Given the description of an element on the screen output the (x, y) to click on. 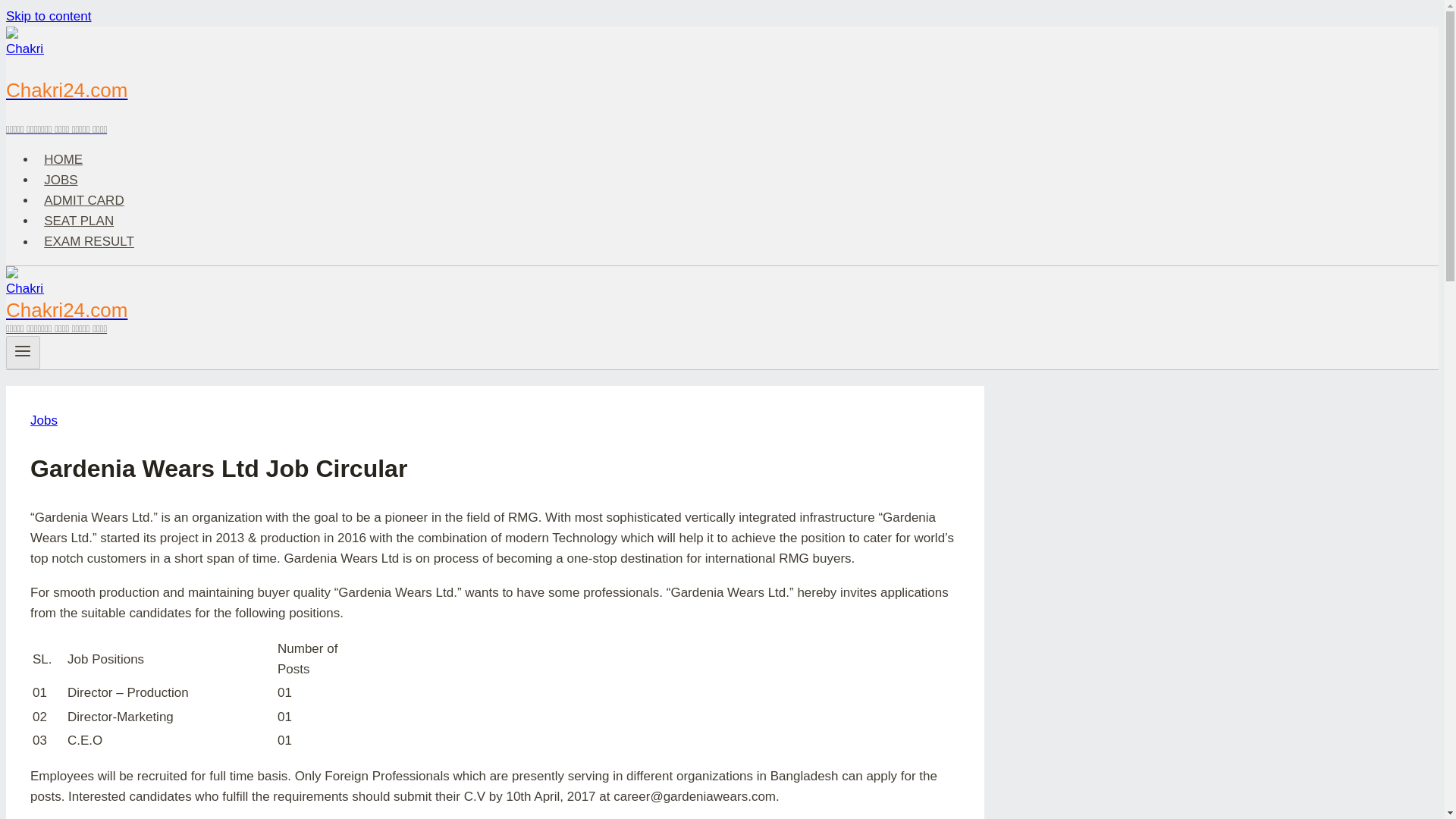
EXAM RESULT (88, 241)
ADMIT CARD (84, 200)
JOBS (60, 179)
Jobs (44, 420)
Toggle Menu (22, 352)
SEAT PLAN (78, 220)
Skip to content (47, 16)
HOME (63, 159)
Toggle Menu (22, 351)
